Given the description of an element on the screen output the (x, y) to click on. 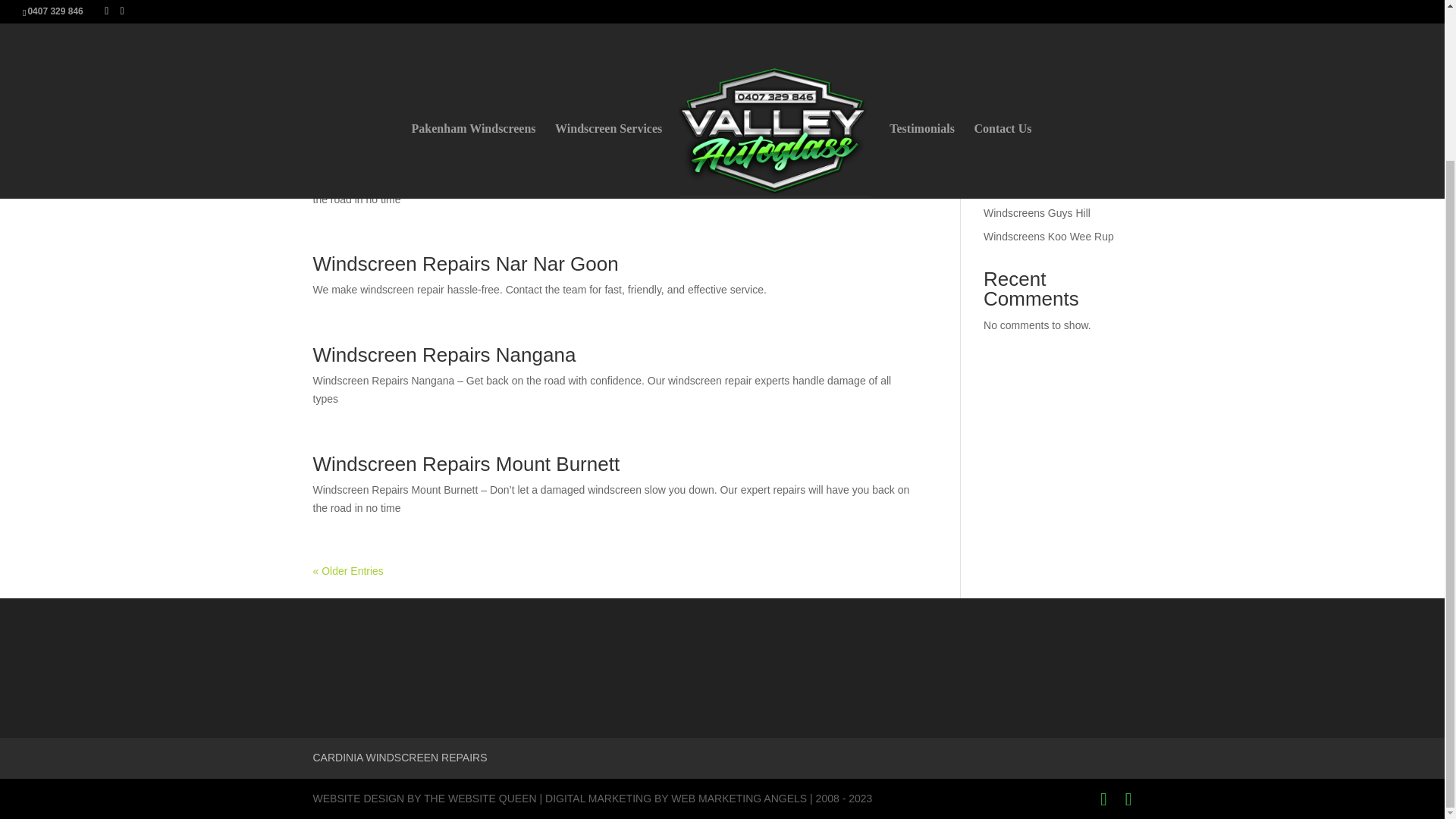
Testimonials (922, 4)
Search (1106, 69)
CARDINIA WINDSCREEN REPAIRS (399, 757)
THE WEBSITE QUEEN (480, 798)
Windscreens Heath Hill (1039, 190)
Melbourne Digital Marketing Services (738, 798)
Windscreen Repairs Nangana (444, 354)
Windscreens Koo Wee Rup (1048, 236)
Windscreen Services (608, 4)
Contact Us (1002, 4)
Windscreen Repairs Mount Burnett (466, 463)
Windscreen Repairs Nyora (430, 64)
Melbourne Website Design (480, 798)
Windscreen Repairs Nar Nar Goon (465, 263)
Windscreens Guys Hill (1037, 213)
